Given the description of an element on the screen output the (x, y) to click on. 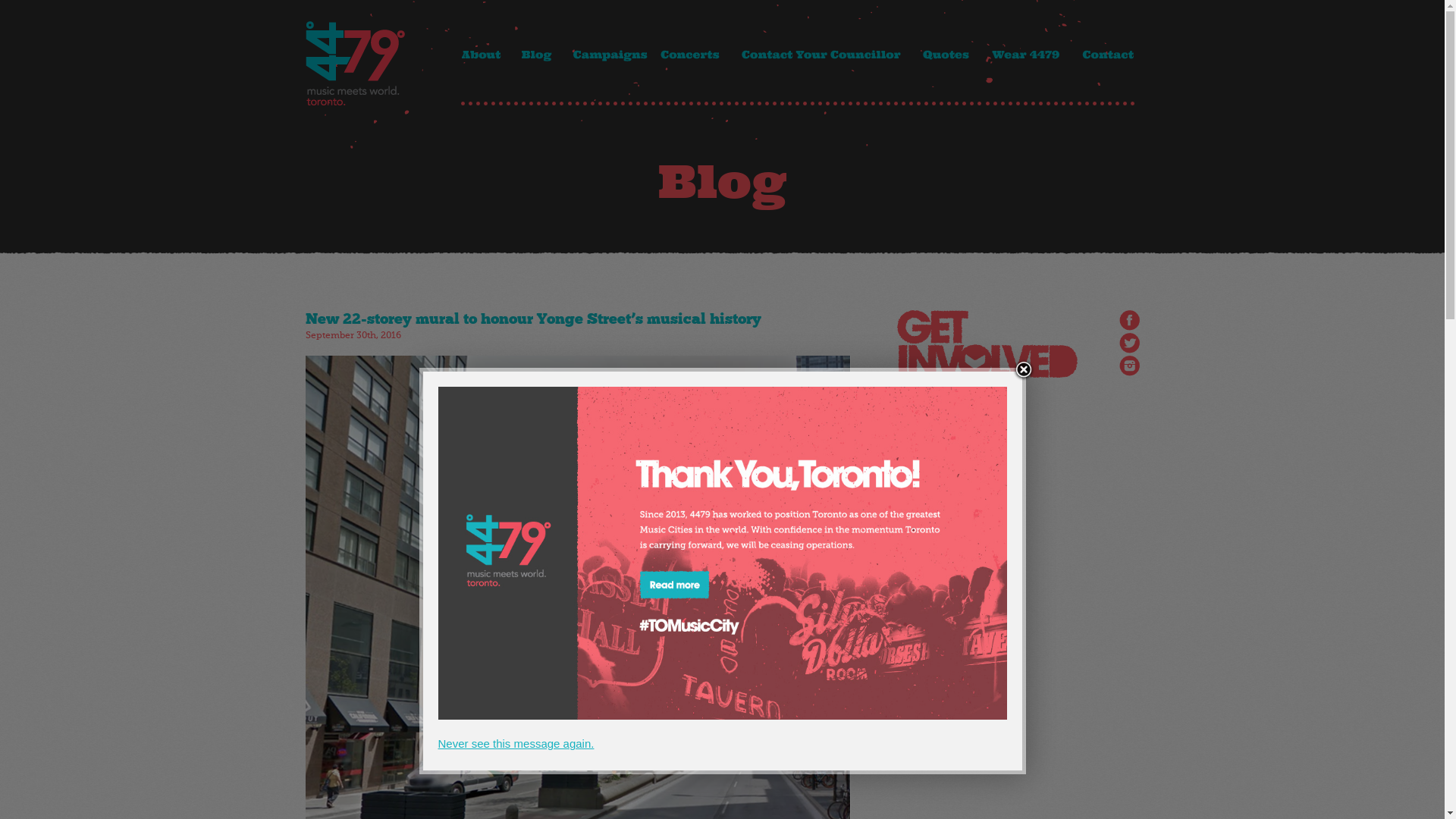
Concerts Element type: text (690, 54)
Wear Element type: text (1029, 54)
About Element type: text (487, 54)
Facebook Element type: text (1129, 320)
Never see this message again. Element type: text (516, 743)
Close this box Element type: hover (1022, 368)
Instagram Element type: text (1129, 365)
Blog Element type: text (543, 54)
Campaigns Element type: text (608, 54)
Contact Element type: text (1105, 54)
Quotes Element type: text (951, 54)
Councillor Element type: text (825, 54)
Twitter Element type: text (1129, 342)
